Given the description of an element on the screen output the (x, y) to click on. 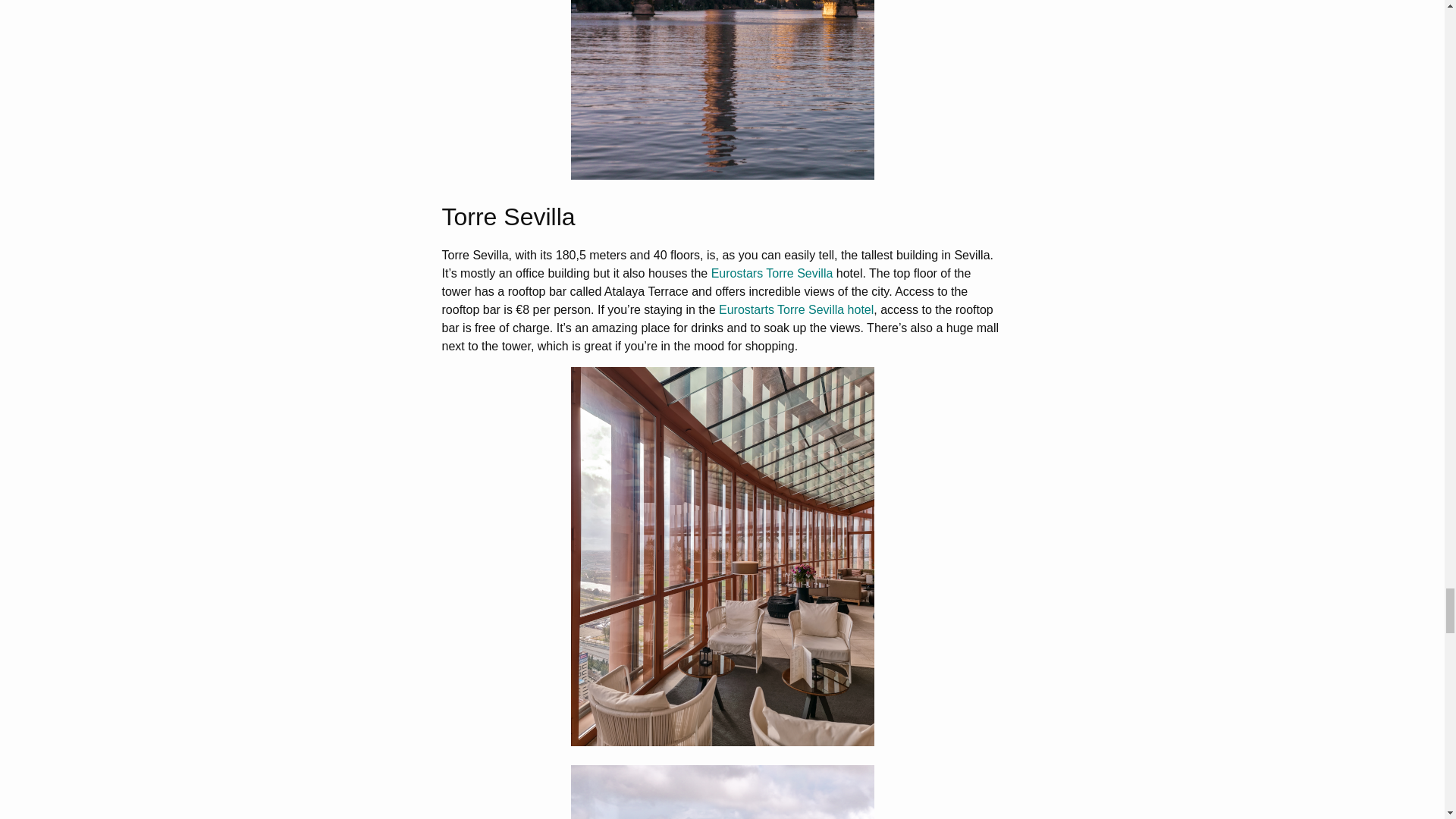
Eurostars Torre Sevilla (771, 273)
Eurostarts Torre Sevilla hotel (796, 309)
